Given the description of an element on the screen output the (x, y) to click on. 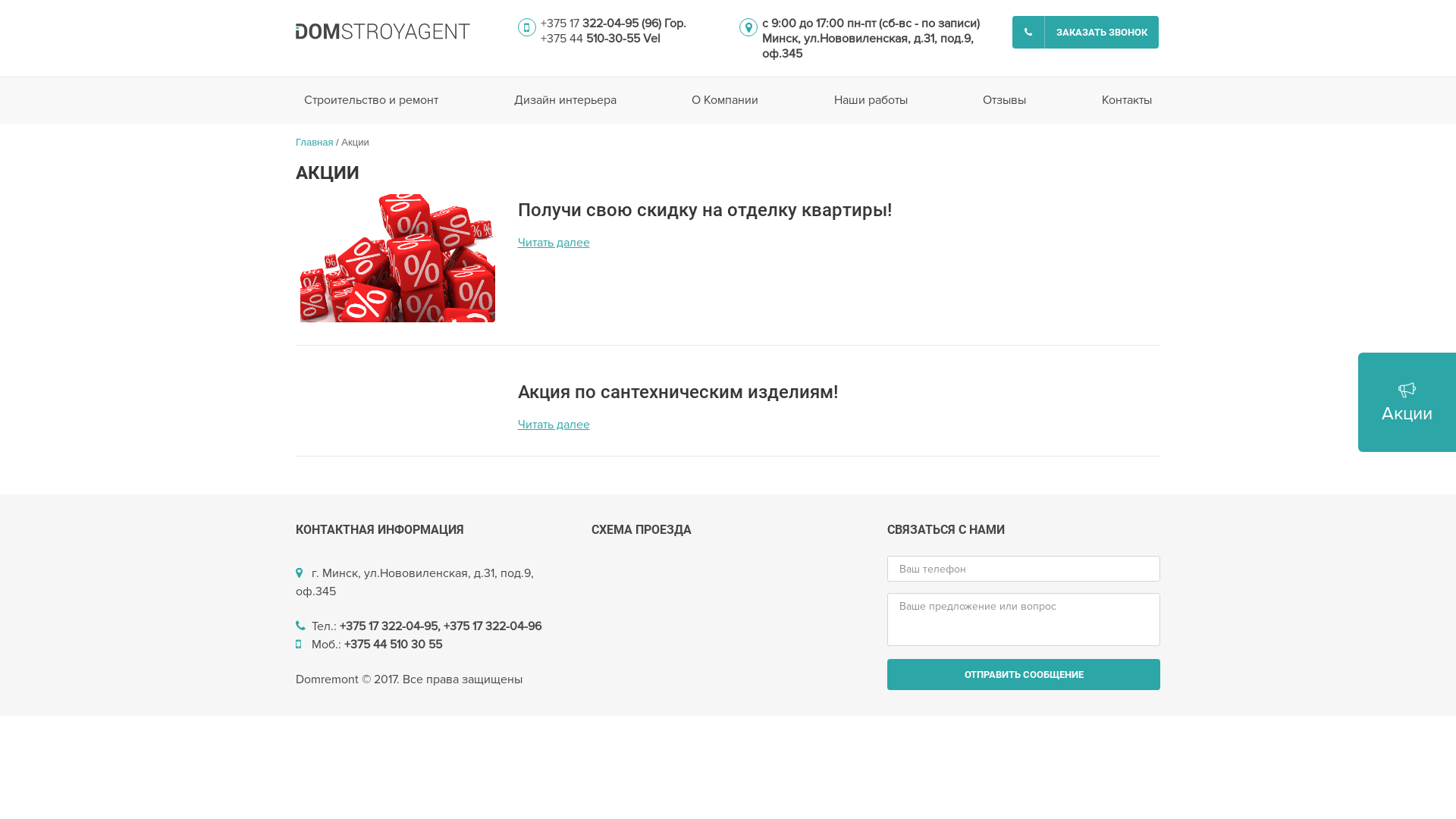
logo Element type: hover (382, 31)
